Given the description of an element on the screen output the (x, y) to click on. 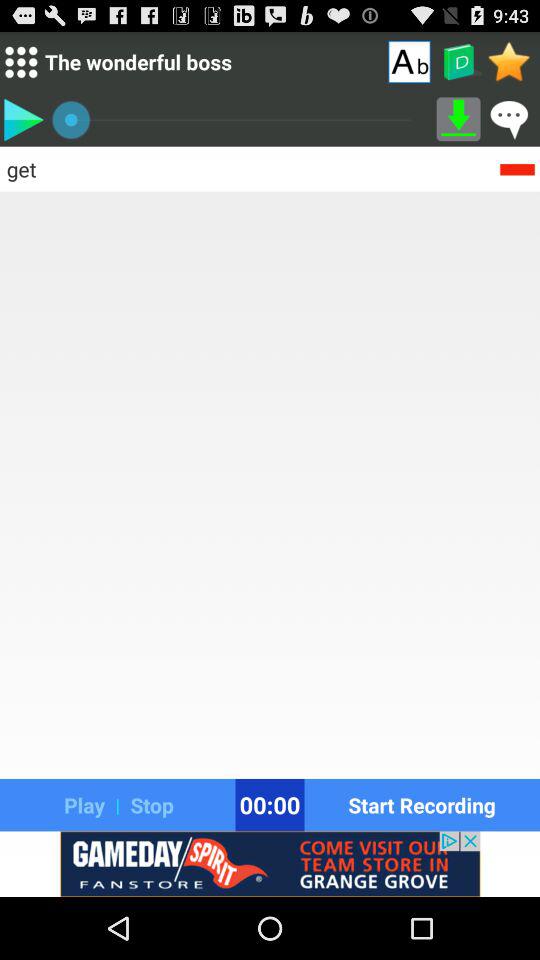
advertisement (270, 864)
